Given the description of an element on the screen output the (x, y) to click on. 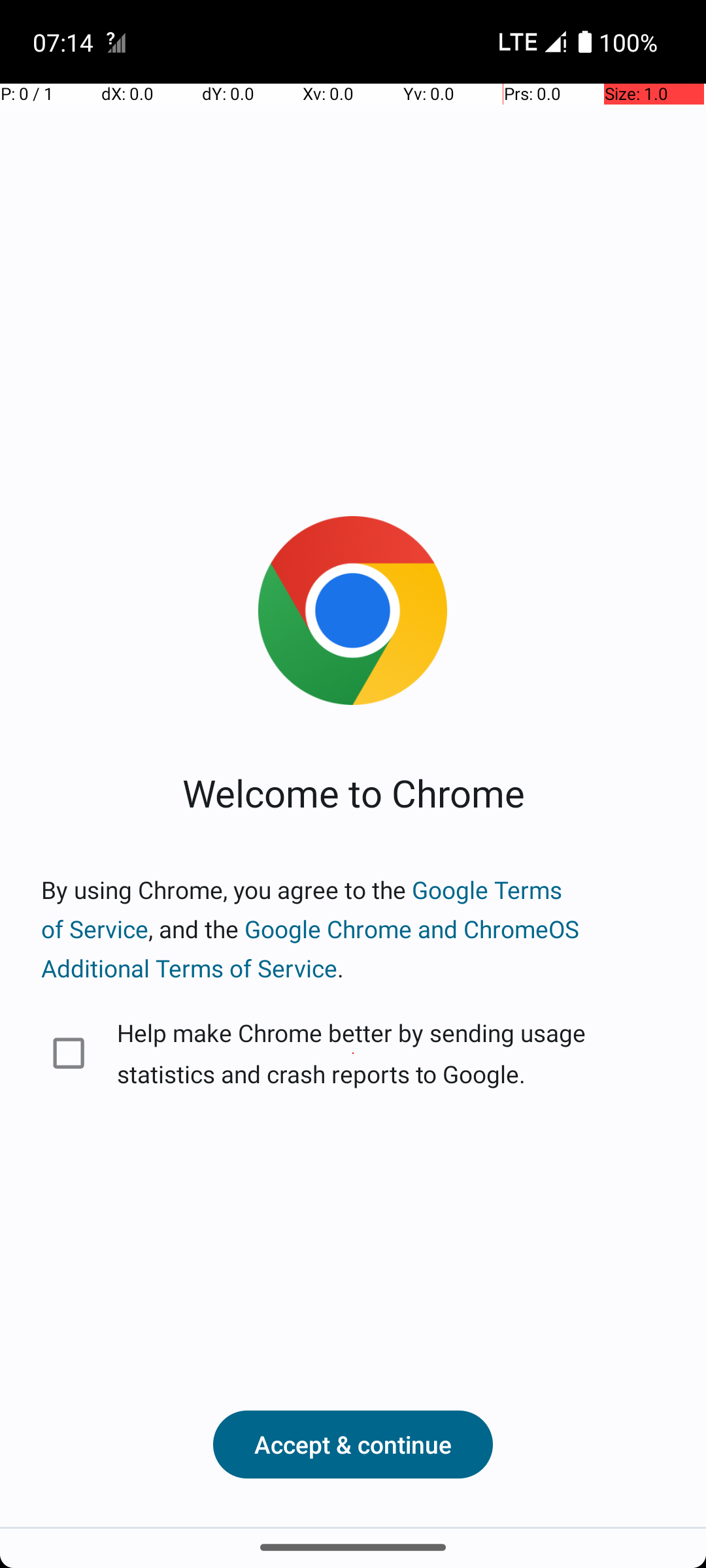
07:14 Element type: android.widget.TextView (64, 41)
